Given the description of an element on the screen output the (x, y) to click on. 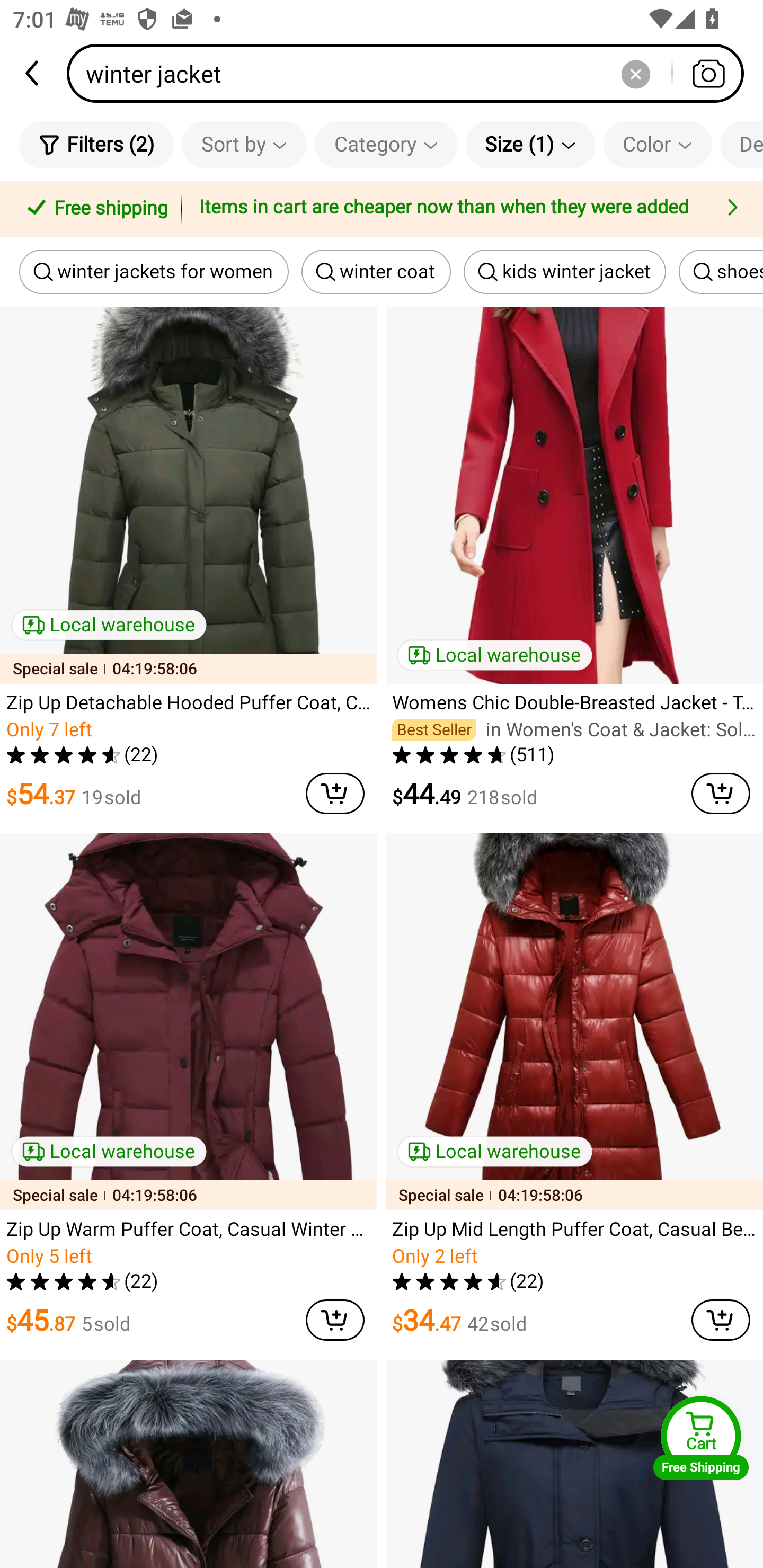
back (33, 72)
winter jacket (411, 73)
Delete search history (635, 73)
Search by photo (708, 73)
Filters (2) (96, 143)
Sort by (243, 143)
Category (385, 143)
Size (1) (530, 143)
Color (657, 143)
 Free shipping (93, 208)
winter jackets for women (153, 271)
winter coat (375, 271)
kids winter jacket (564, 271)
shoes (721, 271)
cart delete (334, 793)
cart delete (720, 793)
cart delete (334, 1319)
cart delete (720, 1319)
Cart Free Shipping Cart (701, 1437)
